Given the description of an element on the screen output the (x, y) to click on. 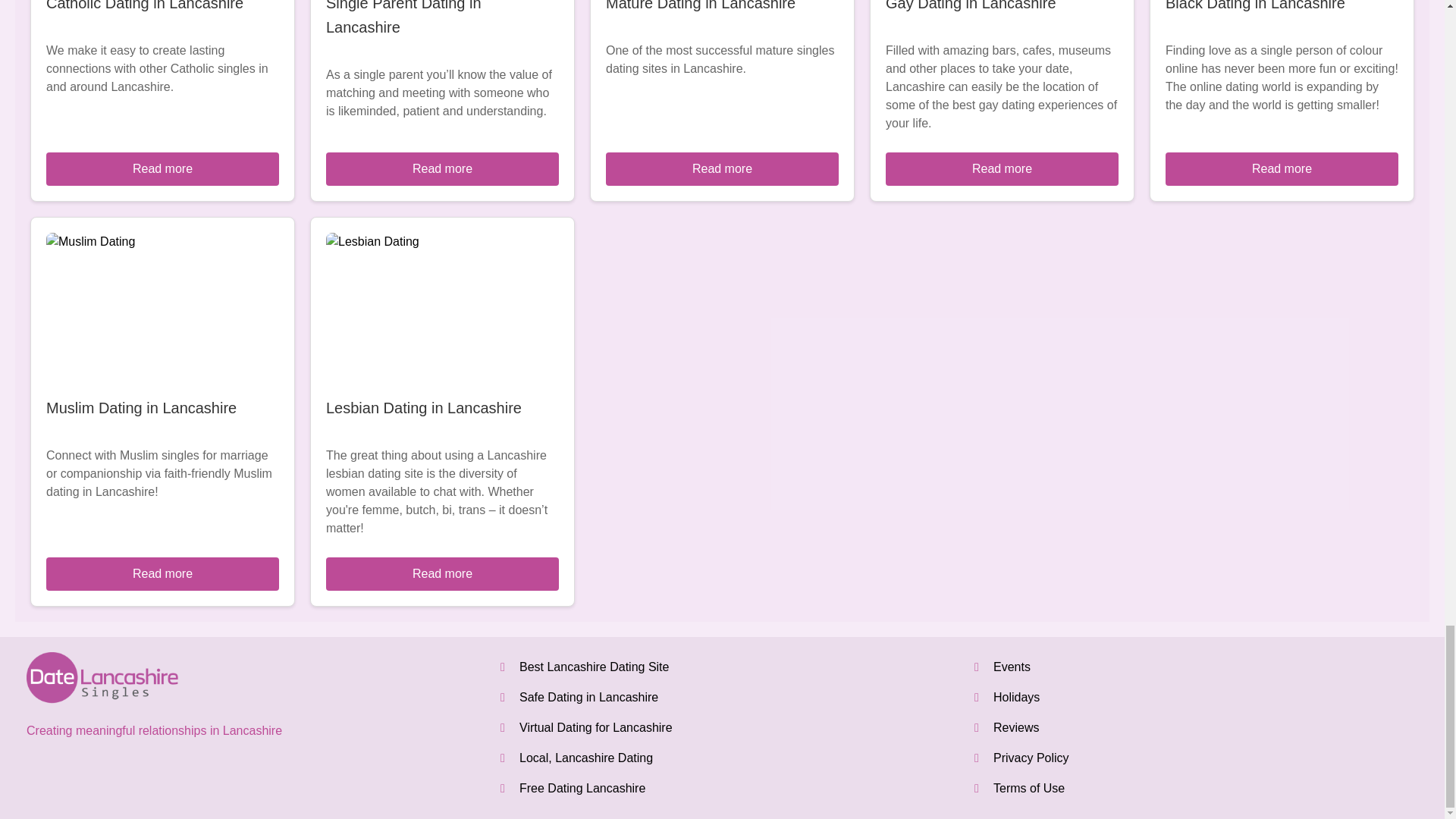
Best Lancashire Dating Site (593, 666)
Events (1011, 666)
Read more (162, 573)
Read more (1001, 168)
Free Dating Lancashire (582, 788)
Local, Lancashire Dating (585, 757)
Read more (721, 168)
Terms of Use (1028, 788)
Safe Dating in Lancashire (588, 697)
Virtual Dating for Lancashire (595, 727)
Holidays (1015, 697)
Read more (442, 573)
Read more (162, 168)
Reviews (1015, 727)
Read more (442, 168)
